Given the description of an element on the screen output the (x, y) to click on. 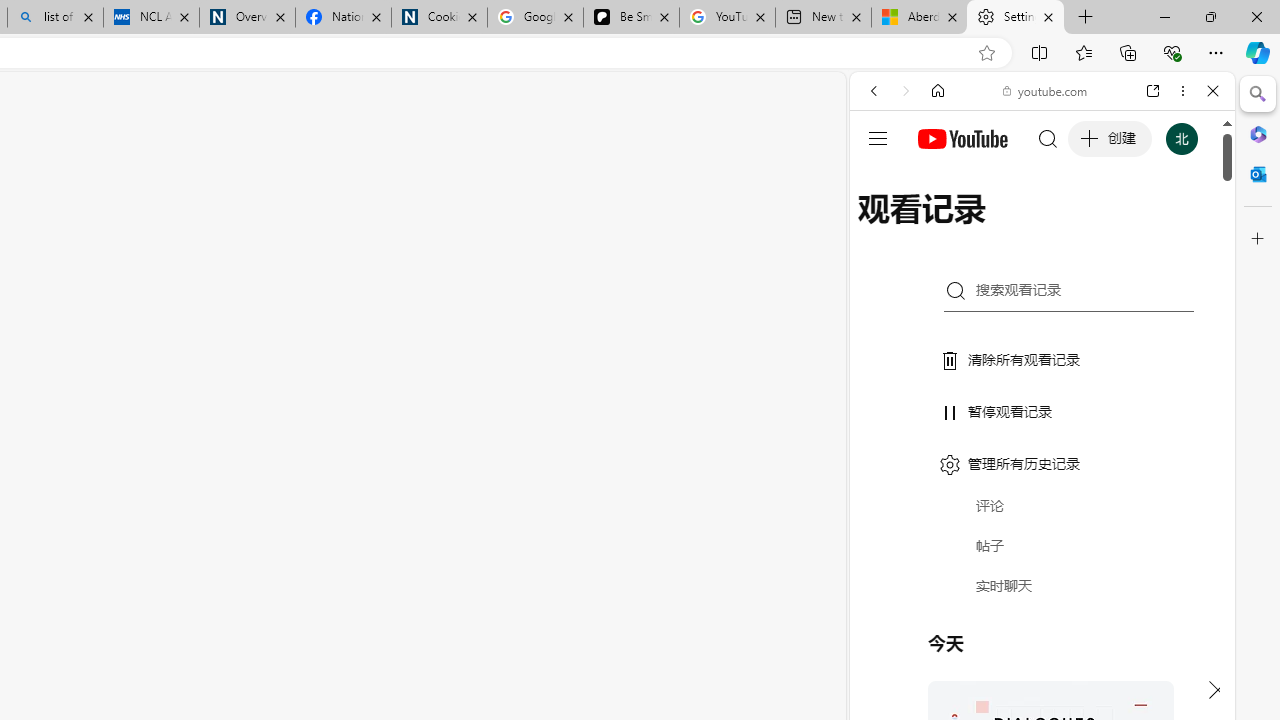
Show More Music (1164, 546)
youtube.com (1046, 90)
